Given the description of an element on the screen output the (x, y) to click on. 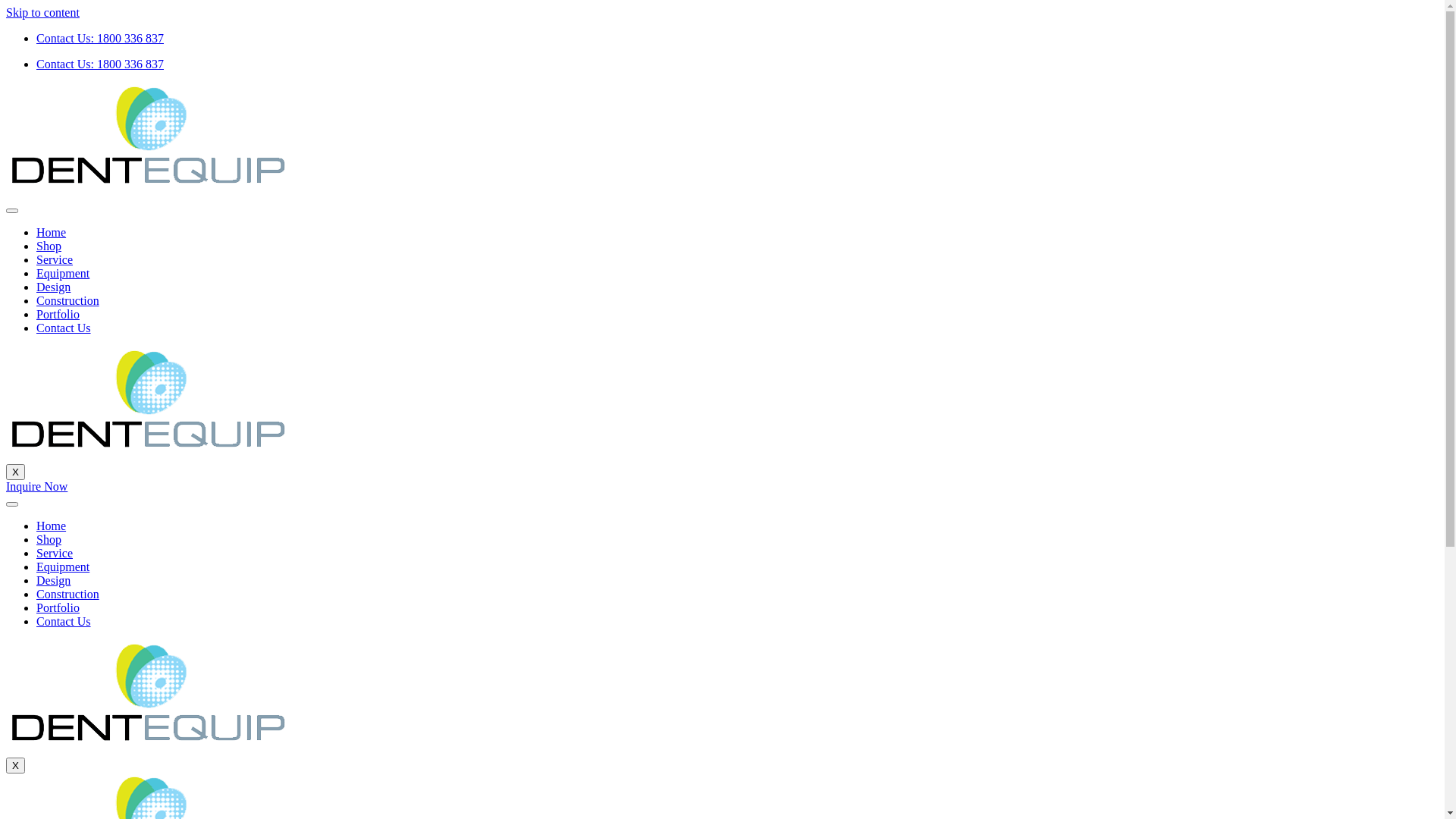
Home Element type: text (50, 525)
Service Element type: text (54, 552)
Construction Element type: text (67, 593)
X Element type: text (15, 472)
Equipment Element type: text (62, 272)
Design Element type: text (53, 286)
Contact Us: 1800 336 837 Element type: text (99, 63)
Service Element type: text (54, 259)
Contact Us Element type: text (63, 327)
Design Element type: text (53, 580)
Shop Element type: text (48, 245)
Inquire Now Element type: text (36, 486)
Skip to content Element type: text (42, 12)
Portfolio Element type: text (57, 607)
Portfolio Element type: text (57, 313)
Construction Element type: text (67, 300)
Contact Us: 1800 336 837 Element type: text (99, 37)
Shop Element type: text (48, 539)
Contact Us Element type: text (63, 621)
Home Element type: text (50, 231)
Equipment Element type: text (62, 566)
X Element type: text (15, 765)
